Given the description of an element on the screen output the (x, y) to click on. 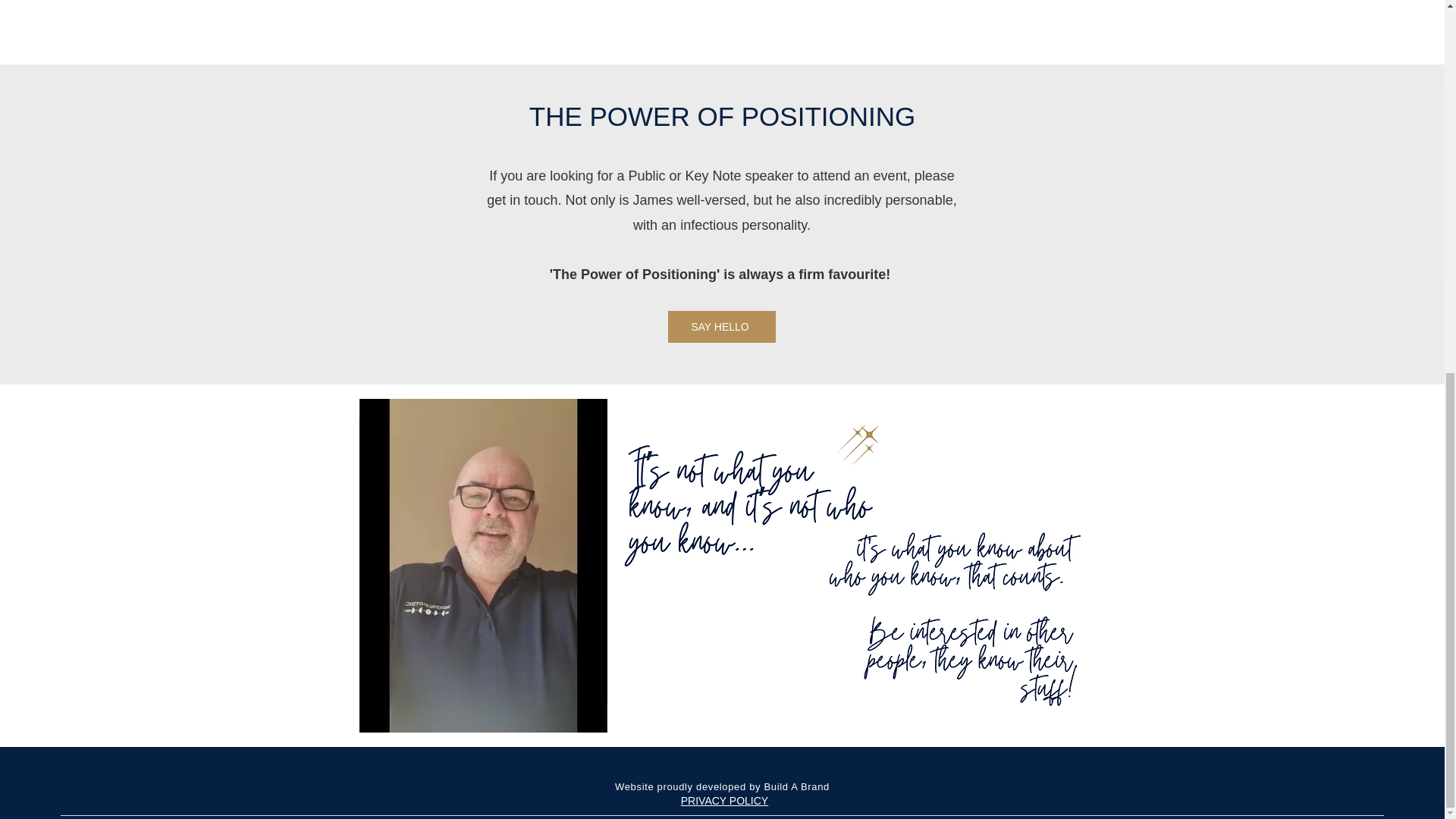
Website proudly developed by Build A Brand (721, 786)
PRIVACY POLICY (724, 800)
SAY HELLO (720, 327)
